Given the description of an element on the screen output the (x, y) to click on. 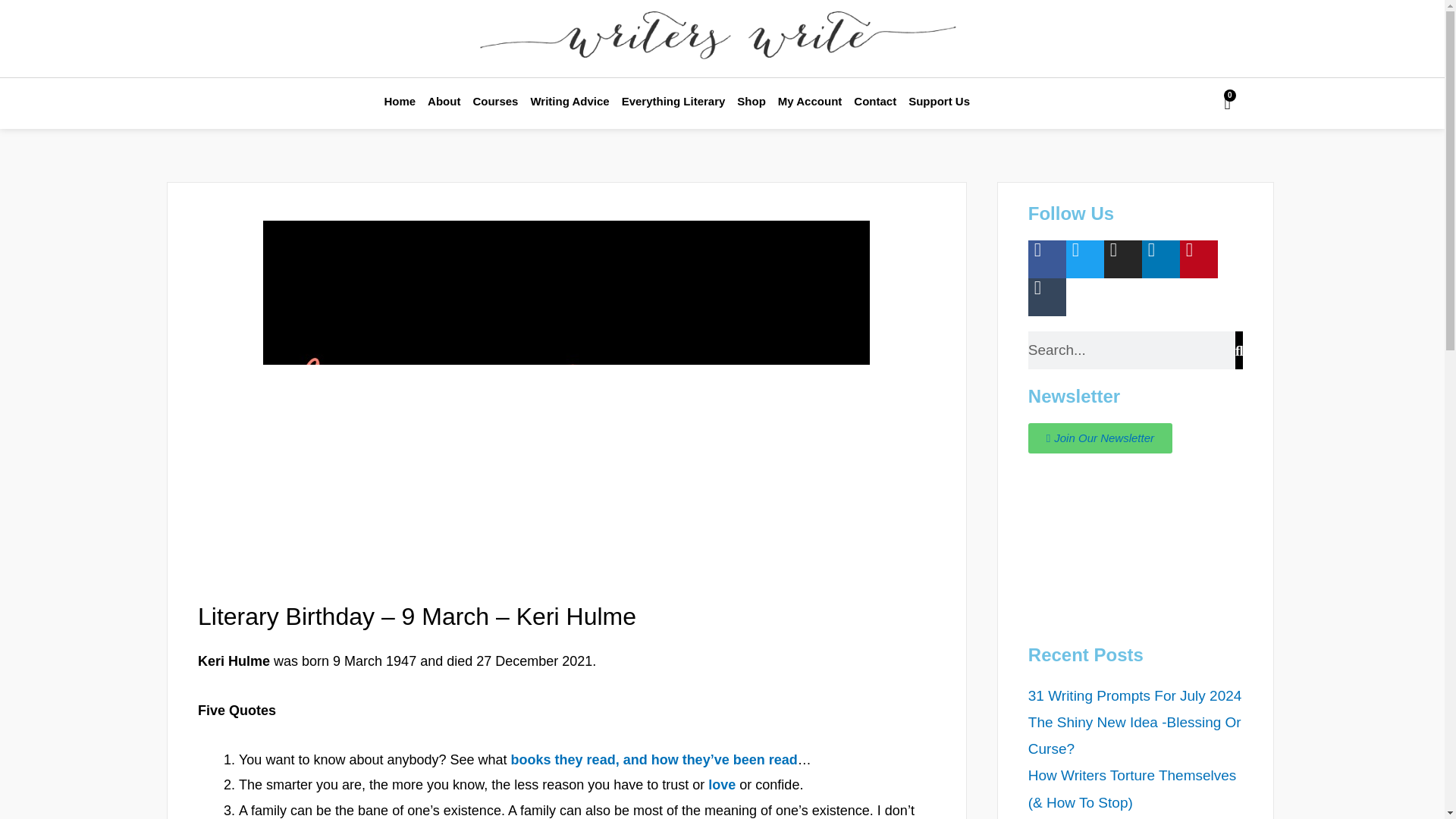
Everything Literary (673, 101)
Writing Advice (569, 101)
Contact (874, 101)
Home (399, 101)
Courses (494, 101)
About (443, 101)
My Account (809, 101)
Support Us (938, 101)
Shop (750, 101)
